Given the description of an element on the screen output the (x, y) to click on. 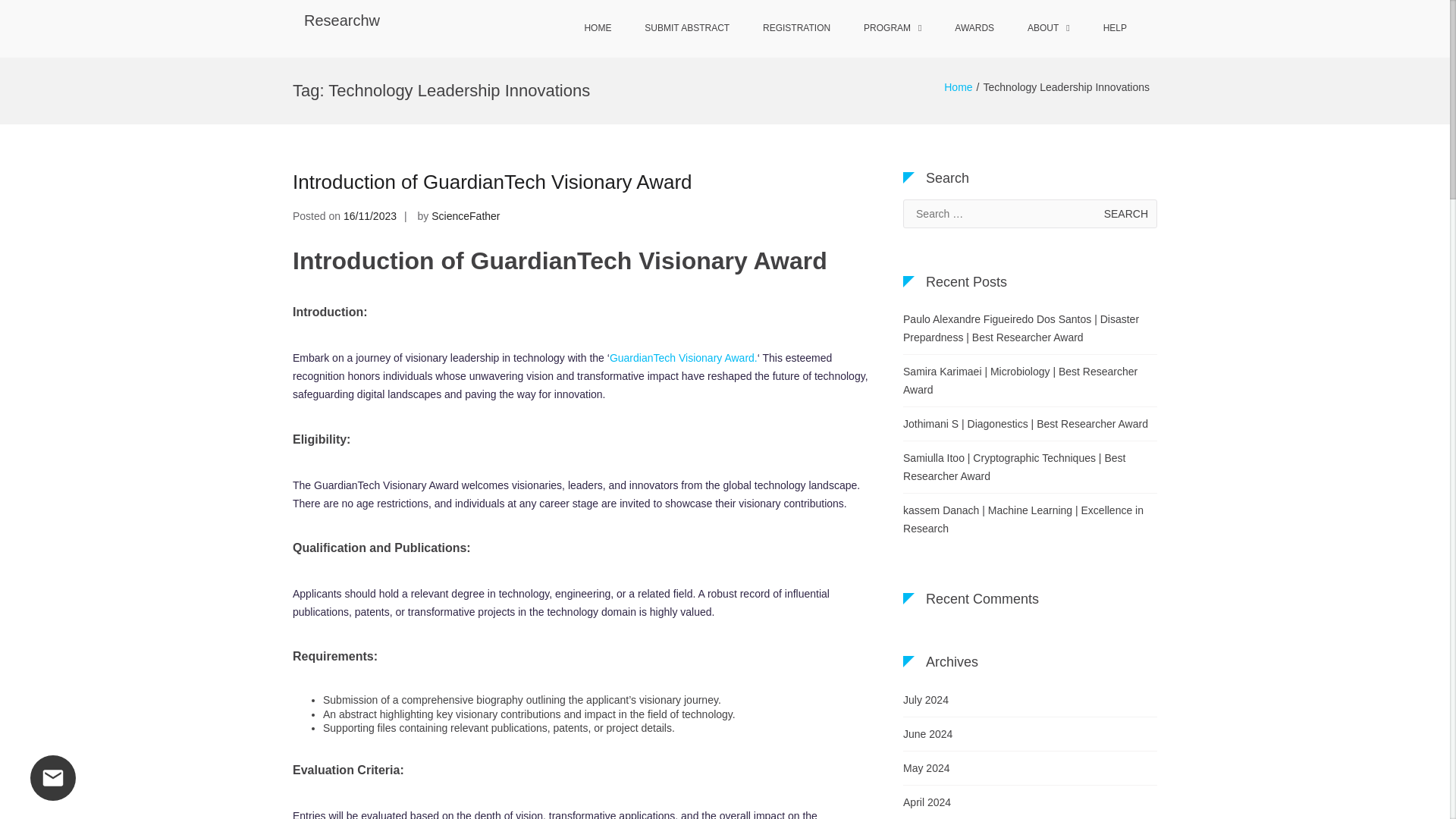
REGISTRATION (796, 28)
PROGRAM (892, 28)
HELP (1114, 28)
AWARDS (974, 28)
HOME (597, 28)
Researchw (342, 20)
ScienceFather (464, 215)
Search (1125, 213)
SUBMIT ABSTRACT (686, 28)
Search (1125, 213)
Home (957, 87)
GuardianTech Visionary Award. (683, 357)
Leave a message (52, 777)
ABOUT (1047, 28)
Introduction of GuardianTech Visionary Award (492, 181)
